Given the description of an element on the screen output the (x, y) to click on. 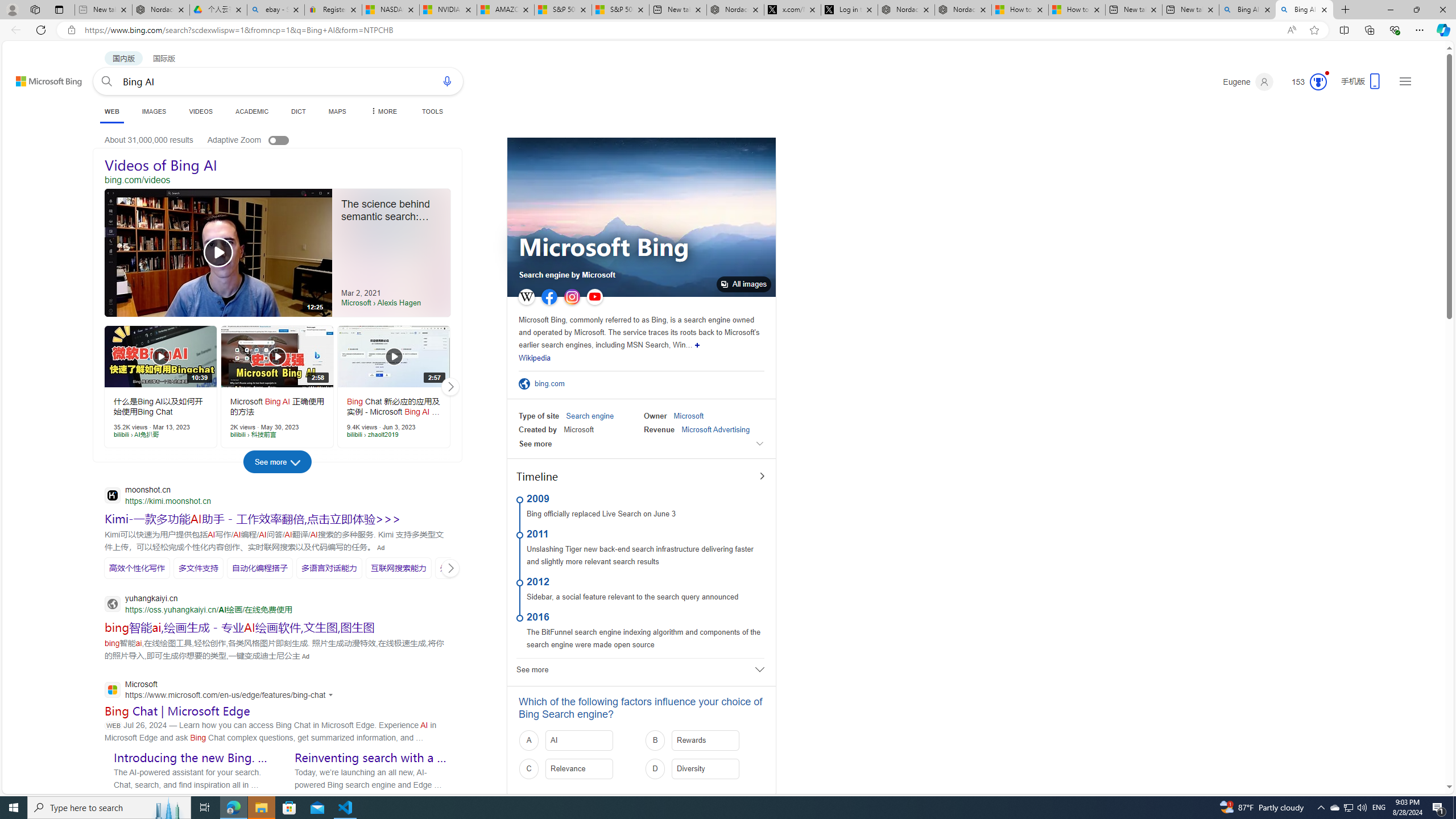
Log in to X / X (849, 9)
C Relevance (577, 768)
SERP,5723 (239, 626)
x.com/NordaceOfficial (791, 9)
Search using voice (446, 80)
VIDEOS (201, 111)
Microsoft Bing (603, 248)
